Given the description of an element on the screen output the (x, y) to click on. 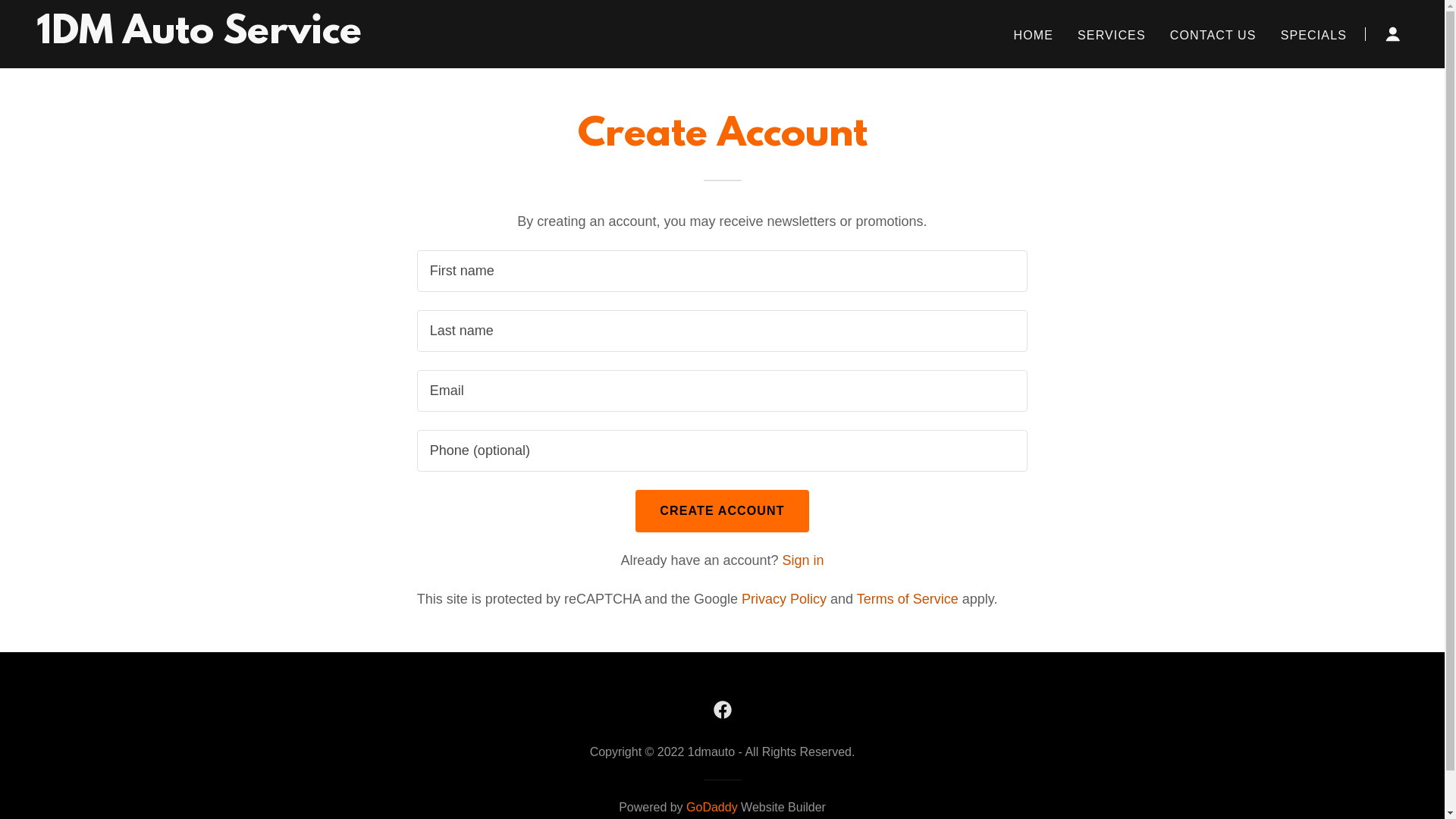
SERVICES Element type: text (1111, 35)
GoDaddy Element type: text (711, 806)
HOME Element type: text (1032, 35)
Sign in Element type: text (803, 559)
Privacy Policy Element type: text (783, 598)
Terms of Service Element type: text (907, 598)
SPECIALS Element type: text (1313, 35)
1DM Auto Service Element type: text (198, 38)
CONTACT US Element type: text (1213, 35)
CREATE ACCOUNT Element type: text (721, 510)
